Given the description of an element on the screen output the (x, y) to click on. 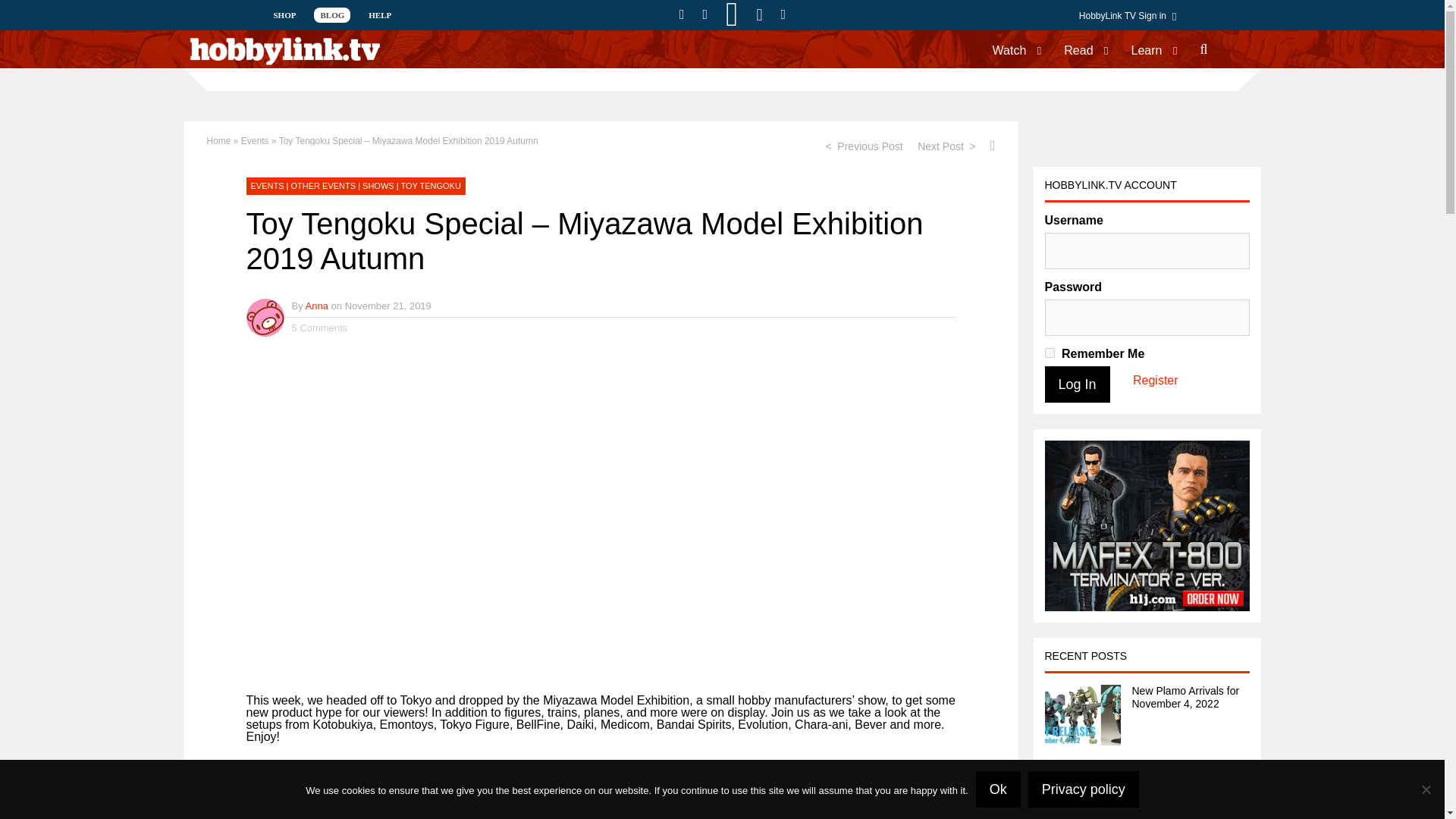
hobbylink.tv (283, 62)
HELP (379, 14)
forever (1049, 352)
HobbyLink TV Sign in (1131, 16)
Log In (1077, 384)
BLOG (332, 14)
SHOP (283, 14)
Watch (1009, 48)
